Given the description of an element on the screen output the (x, y) to click on. 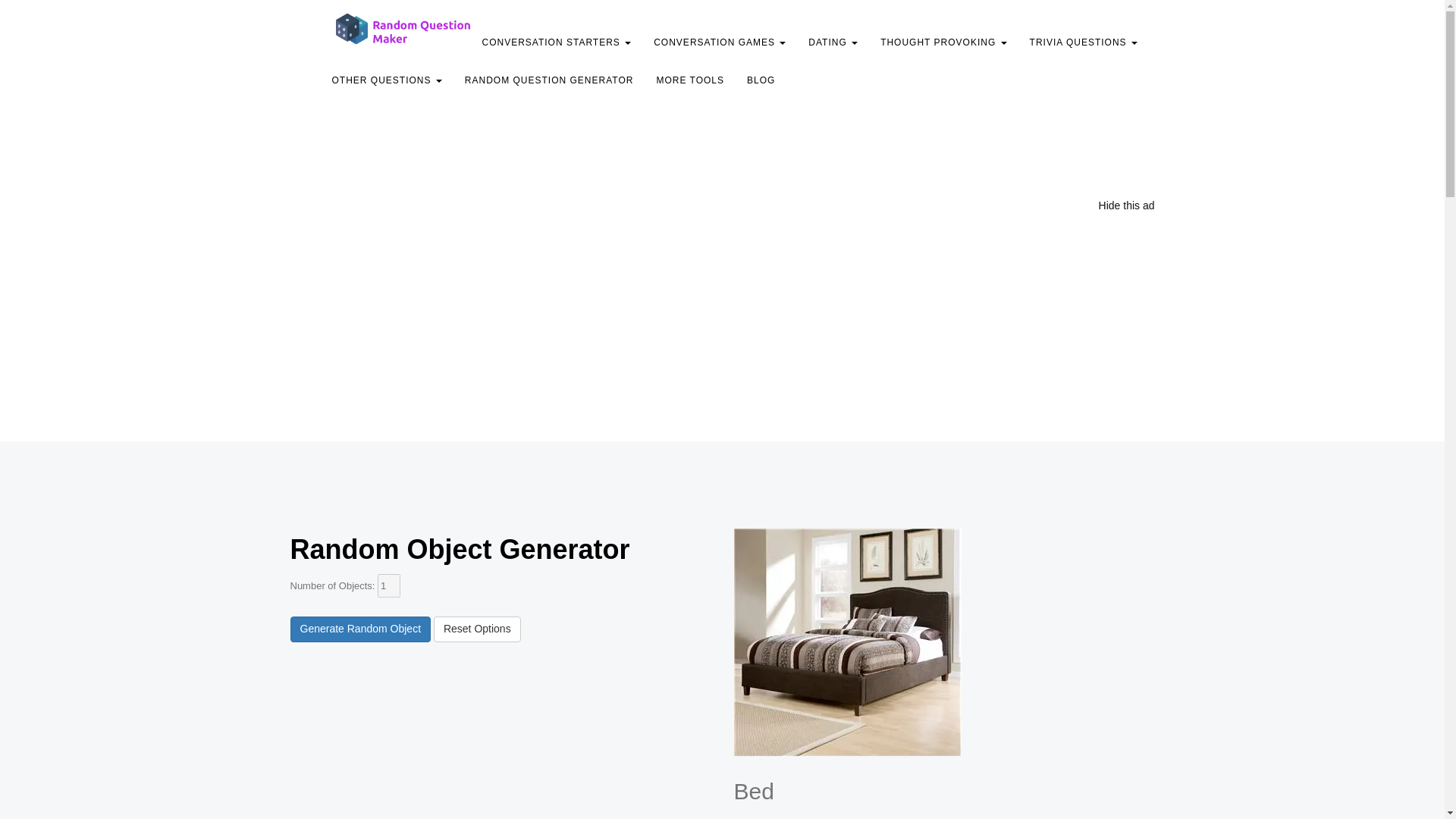
1 (388, 585)
Advertisement (657, 164)
CONVERSATION GAMES (719, 42)
DATING (832, 42)
CONVERSATION STARTERS (556, 42)
